Given the description of an element on the screen output the (x, y) to click on. 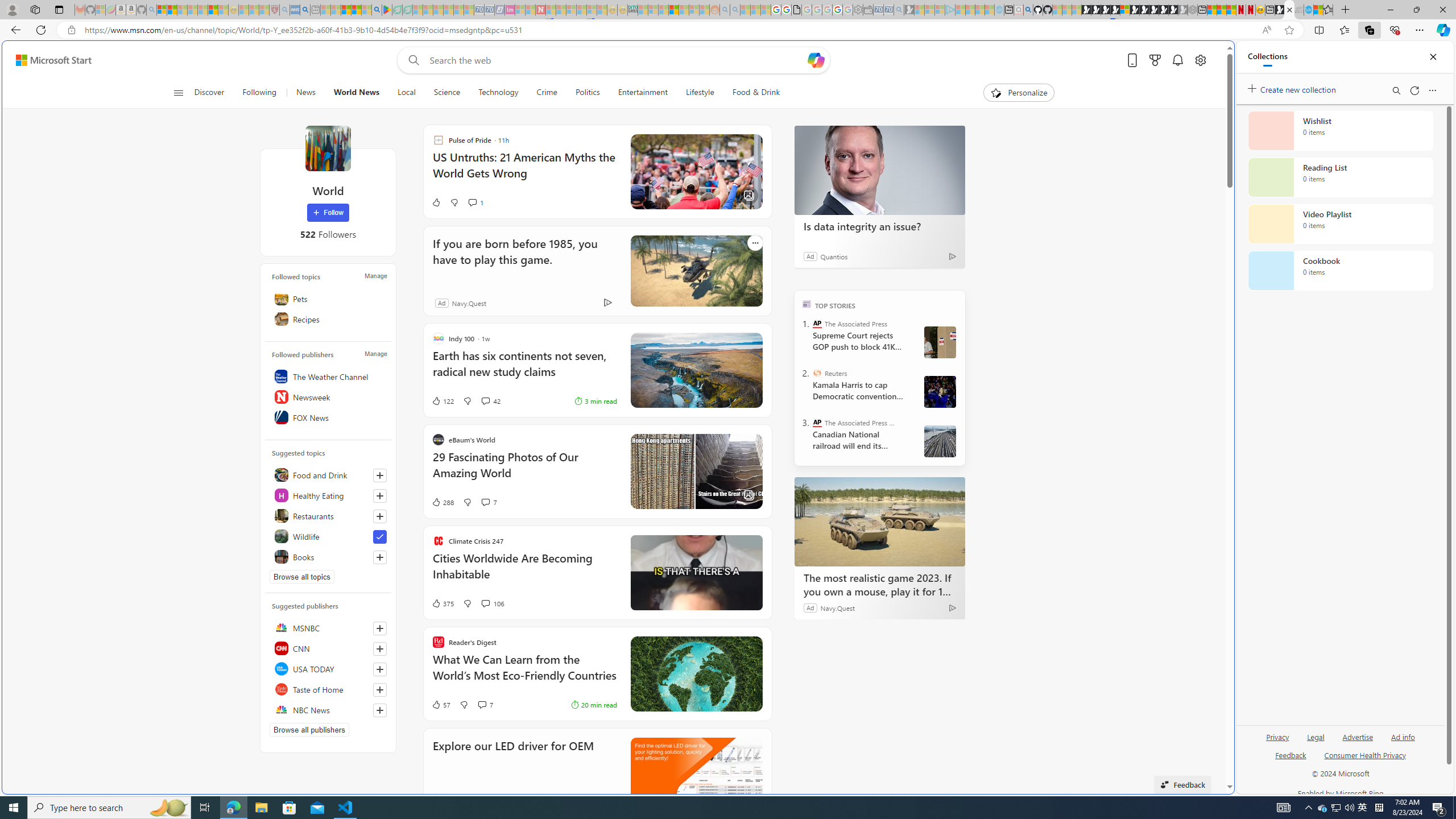
Wildlife (327, 536)
Cities Worldwide Are Becoming Inhabitable (524, 572)
Frequently visited (965, 151)
World (327, 148)
